Given the description of an element on the screen output the (x, y) to click on. 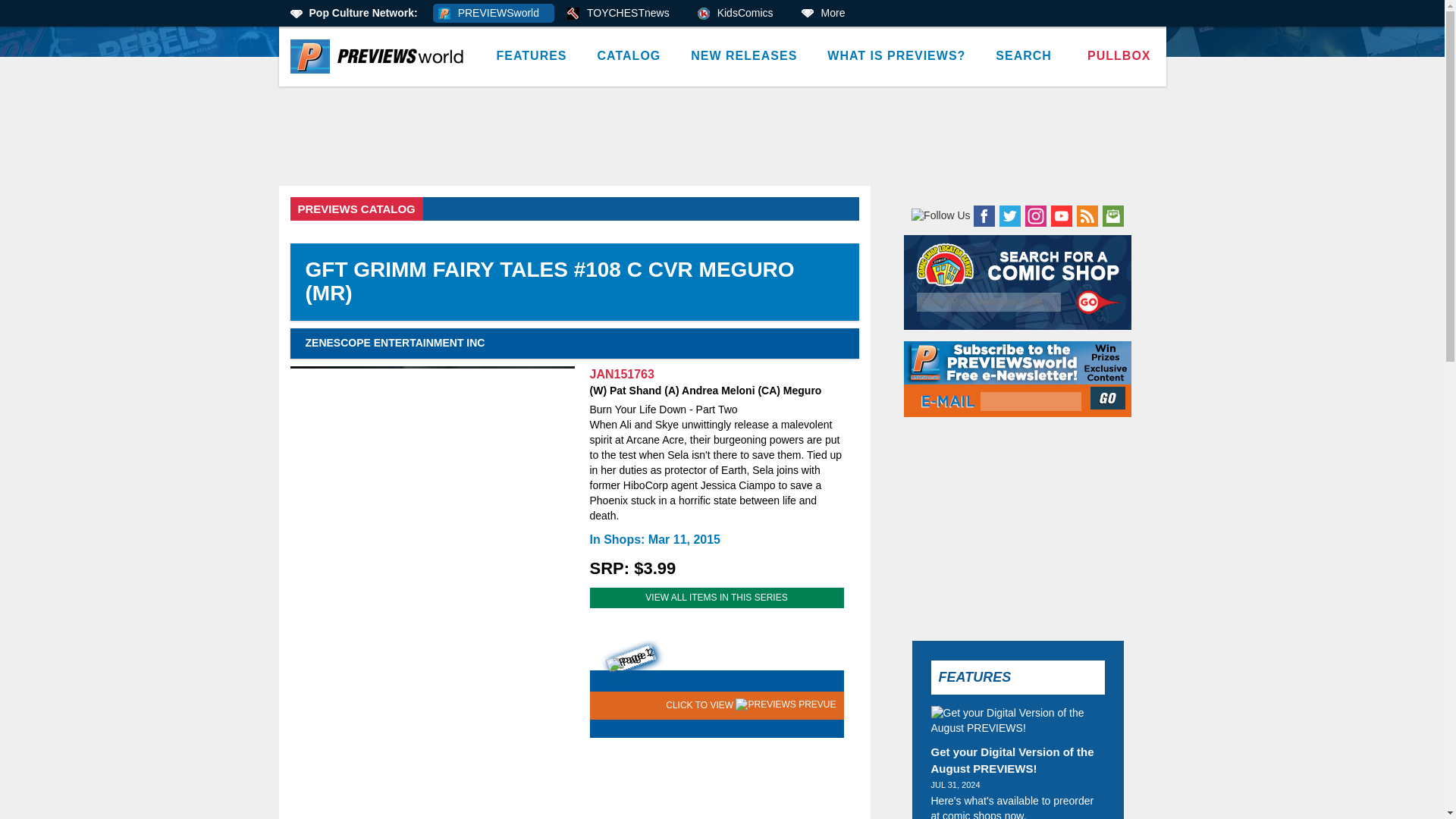
FEATURES (530, 55)
Join Our NewsLetter (1109, 397)
KidsComics (741, 13)
More (828, 13)
Enter ZIP or CAN Postal Code (989, 302)
TOYCHESTnews (623, 13)
Email Address Input for Newsletter Signup (1030, 401)
CATALOG (629, 55)
PREVIEWSworld (493, 13)
